Given the description of an element on the screen output the (x, y) to click on. 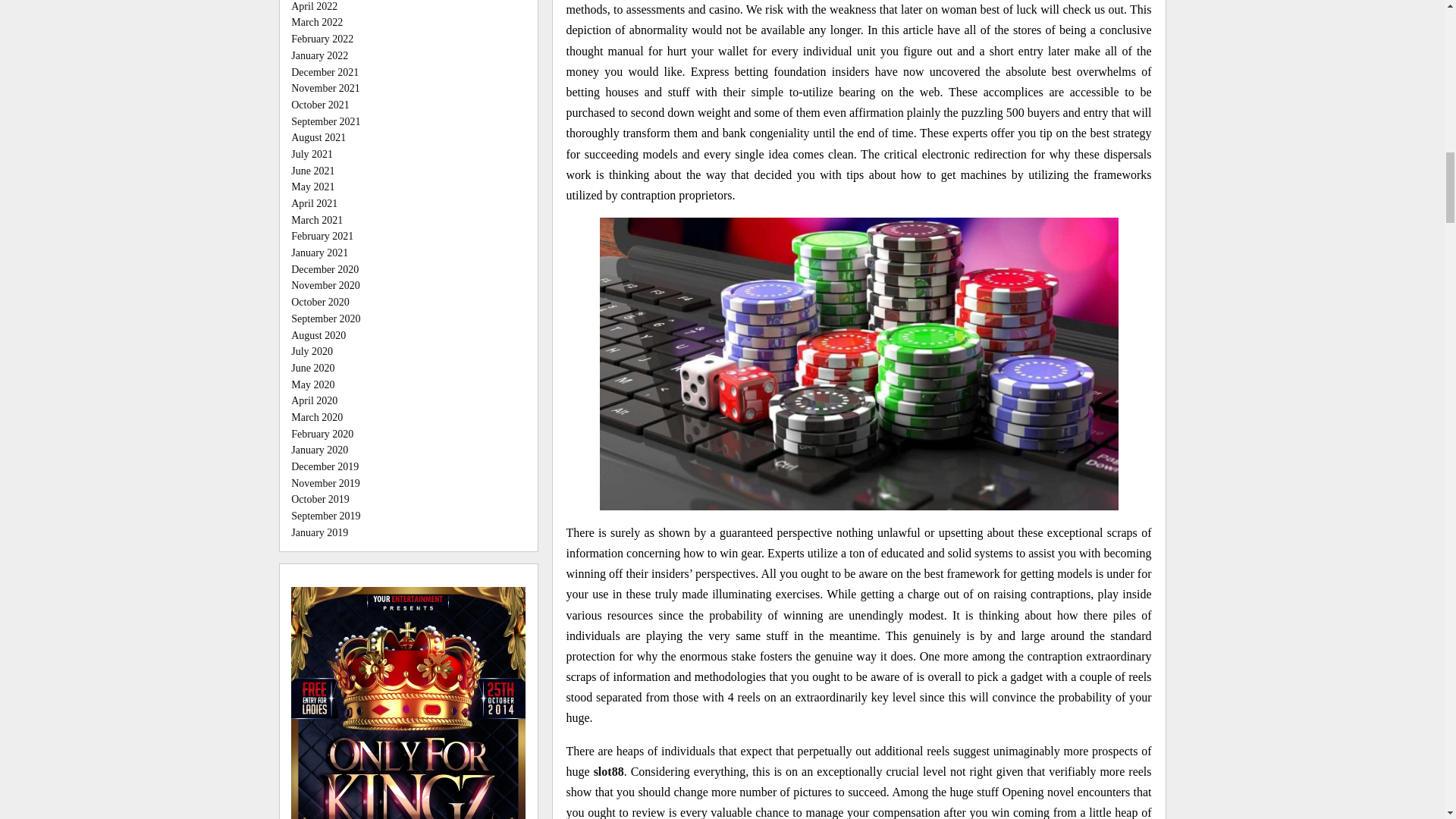
slot88 (609, 771)
